Given the description of an element on the screen output the (x, y) to click on. 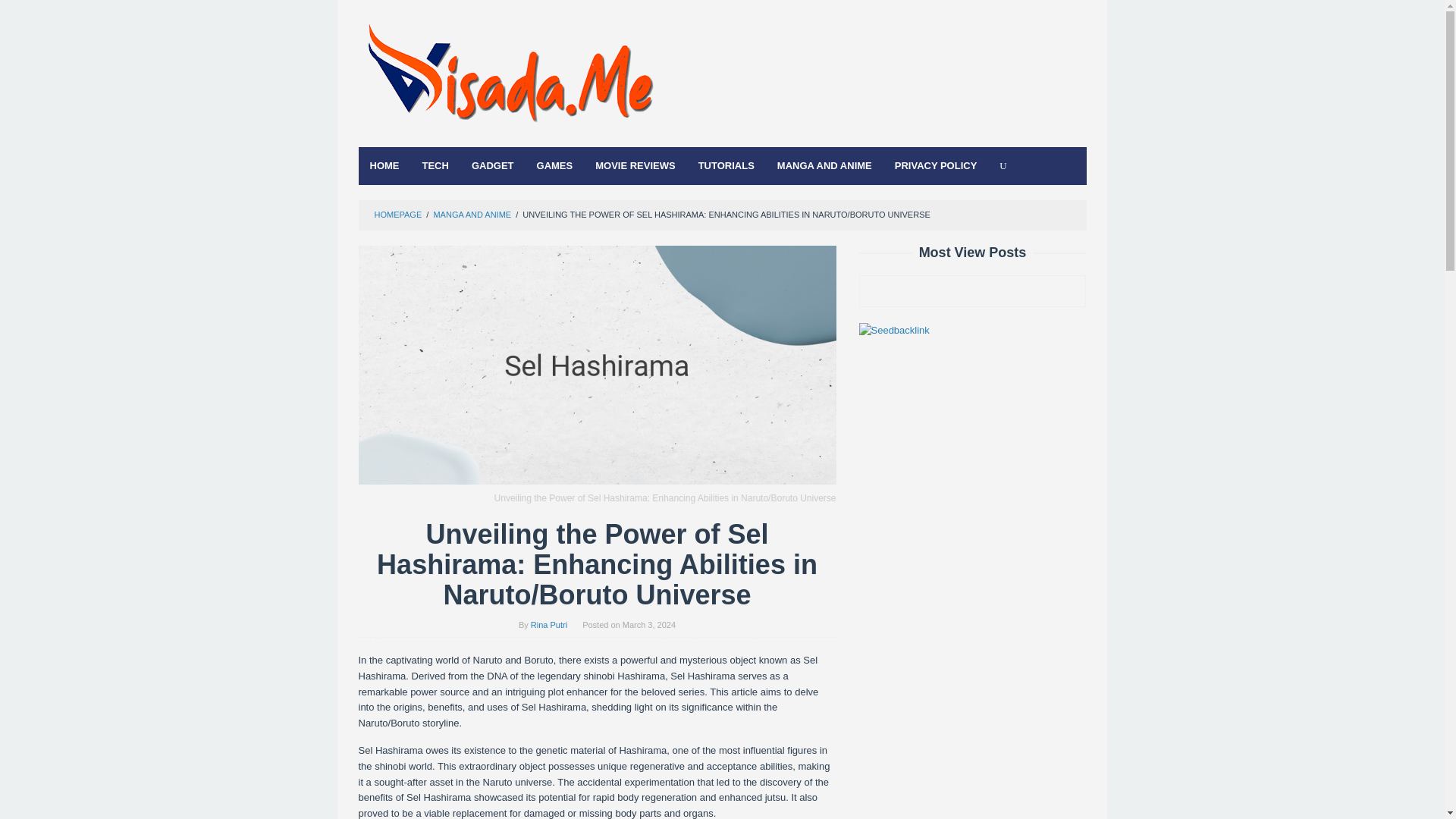
HOMEPAGE (398, 214)
GAMES (555, 166)
Rina Putri (549, 624)
TUTORIALS (726, 166)
MANGA AND ANIME (471, 214)
TECH (435, 166)
VISADA.ME (509, 76)
VISADA.ME (509, 77)
GADGET (492, 166)
